Given the description of an element on the screen output the (x, y) to click on. 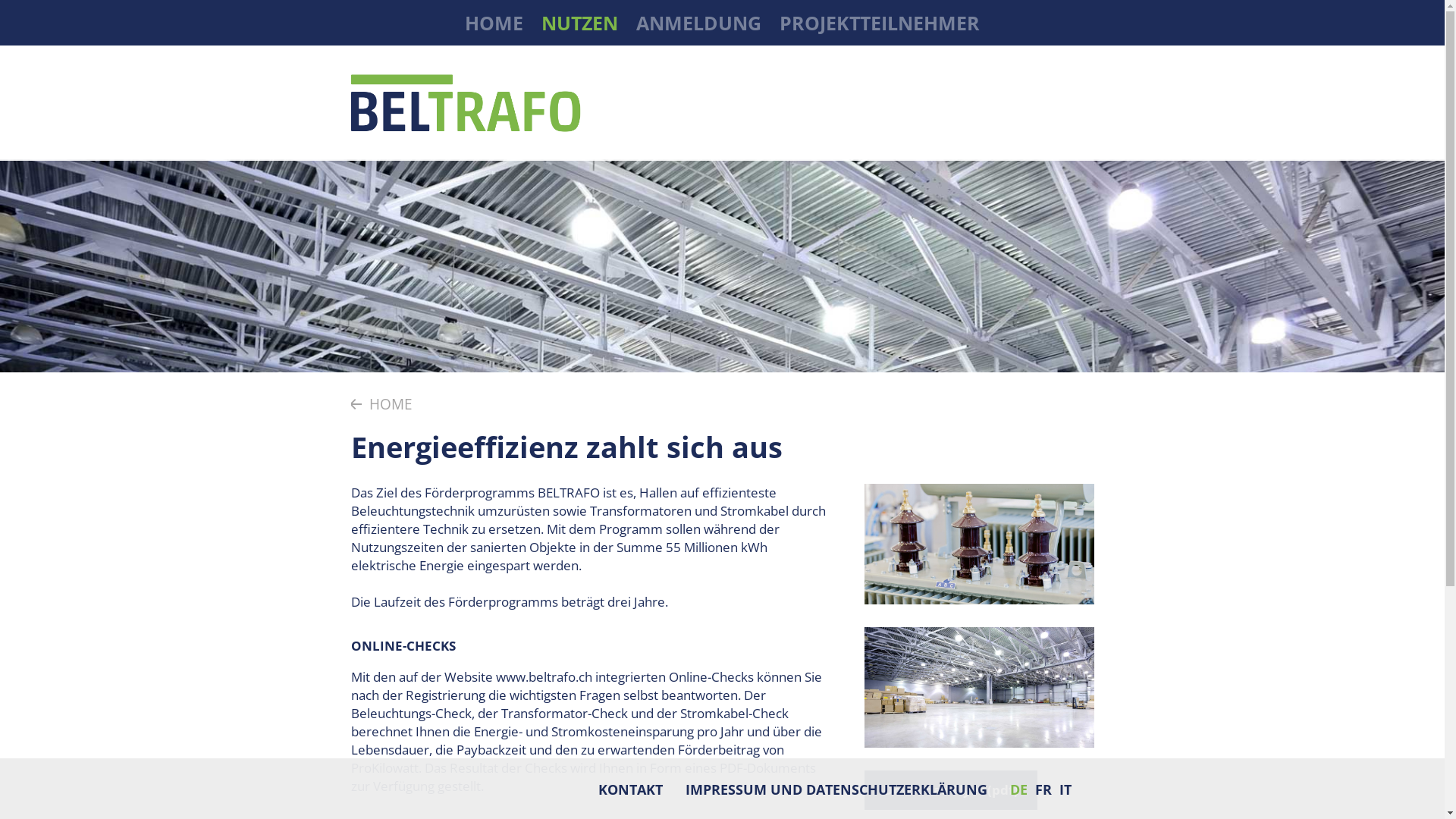
HOME Element type: text (493, 22)
FR Element type: text (1042, 789)
PROJEKTTEILNEHMER Element type: text (879, 22)
DE Element type: text (1018, 789)
ANMELDUNG Element type: text (698, 22)
HOME Element type: text (380, 404)
NUTZEN Element type: text (579, 22)
KONTAKT Element type: text (629, 789)
BELTRAFO Startseite Element type: hover (463, 103)
Download Flyer (pdf) Element type: text (950, 789)
IT Element type: text (1064, 789)
